Given the description of an element on the screen output the (x, y) to click on. 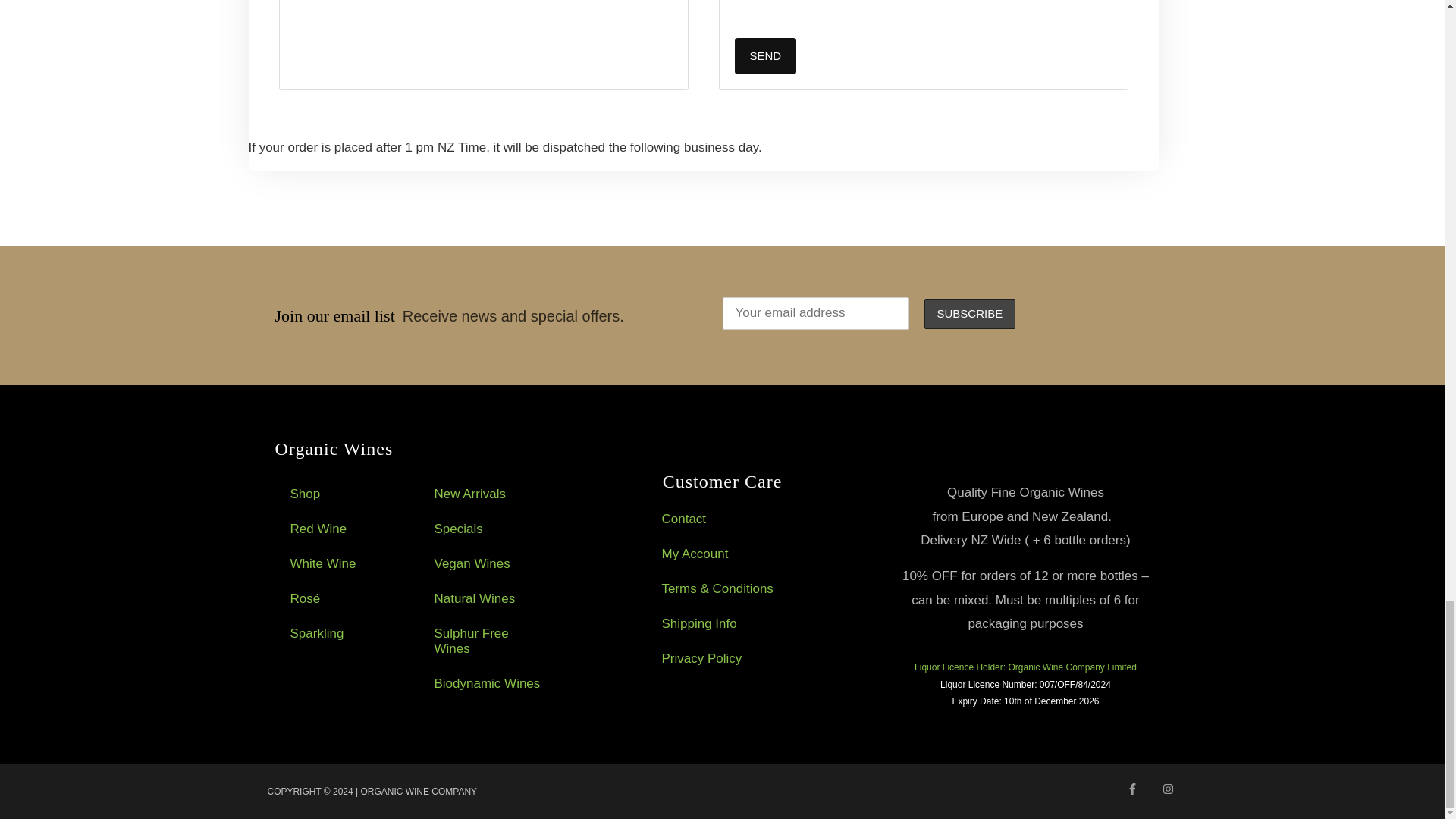
Send (764, 55)
Subscribe (968, 313)
